Given the description of an element on the screen output the (x, y) to click on. 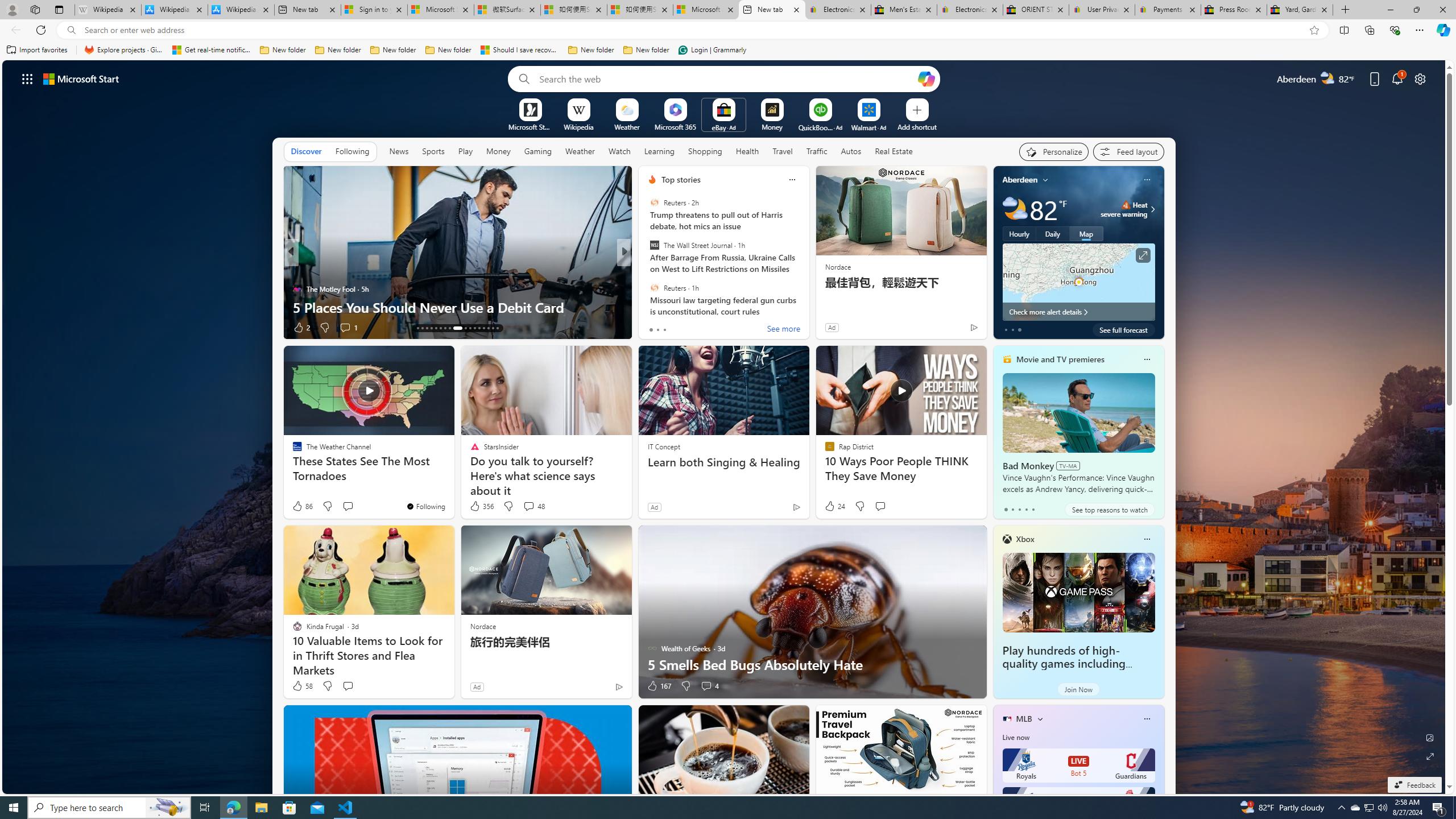
Microsoft start (81, 78)
GOBankingRates (647, 270)
Search icon (70, 29)
Ad (476, 686)
Click to see more information (1142, 255)
AutomationID: tab-27 (488, 328)
AutomationID: backgroundImagePicture (723, 426)
Weather (579, 151)
App launcher (27, 78)
My location (1045, 179)
